Given the description of an element on the screen output the (x, y) to click on. 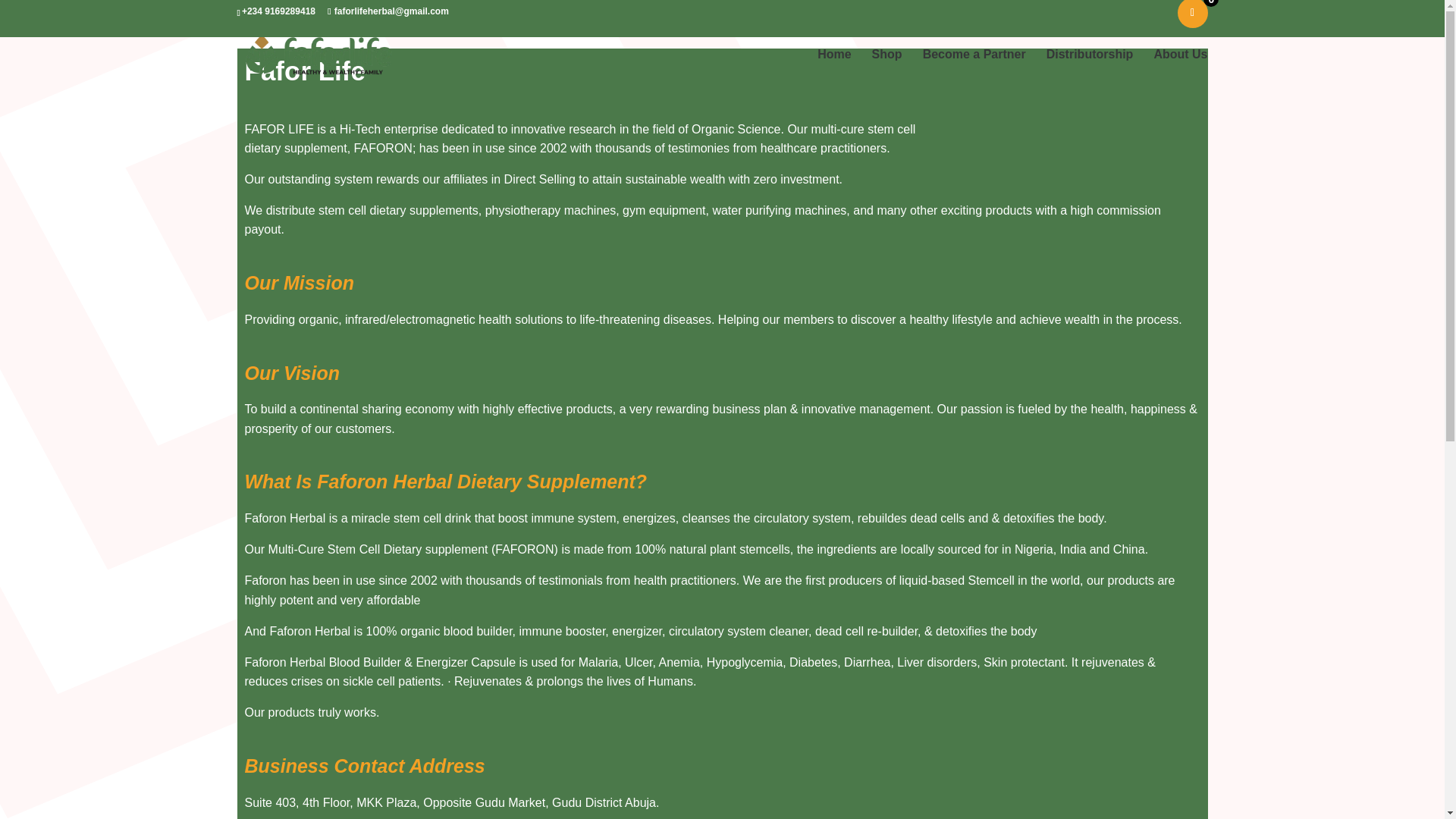
Distributorship (1090, 67)
0 (1191, 13)
About Us (1180, 67)
Become a Partner (974, 67)
Home (833, 67)
